Given the description of an element on the screen output the (x, y) to click on. 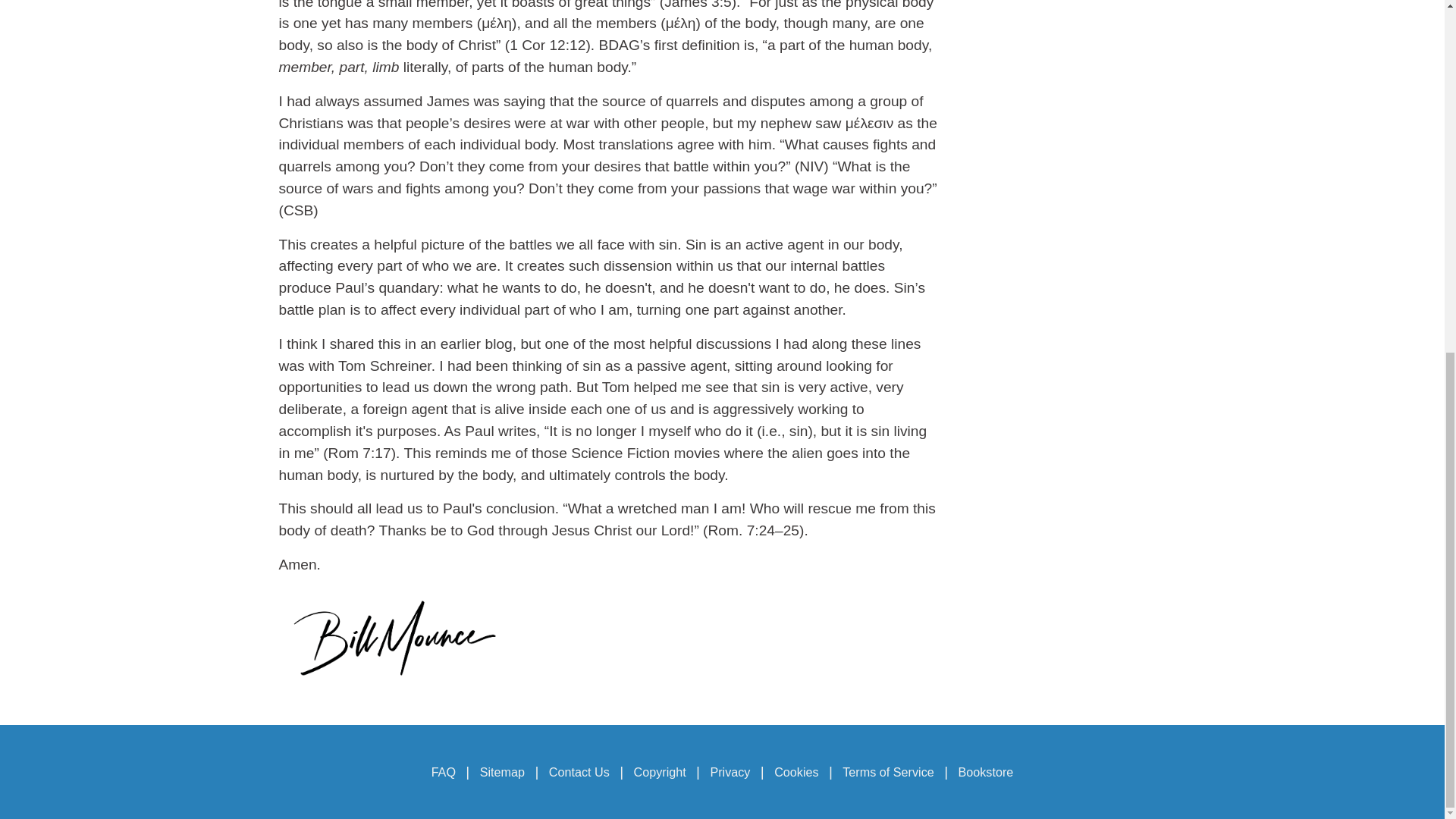
Sitemap (502, 771)
Copyright (659, 771)
FAQ (445, 771)
Contact Us (579, 771)
